Given the description of an element on the screen output the (x, y) to click on. 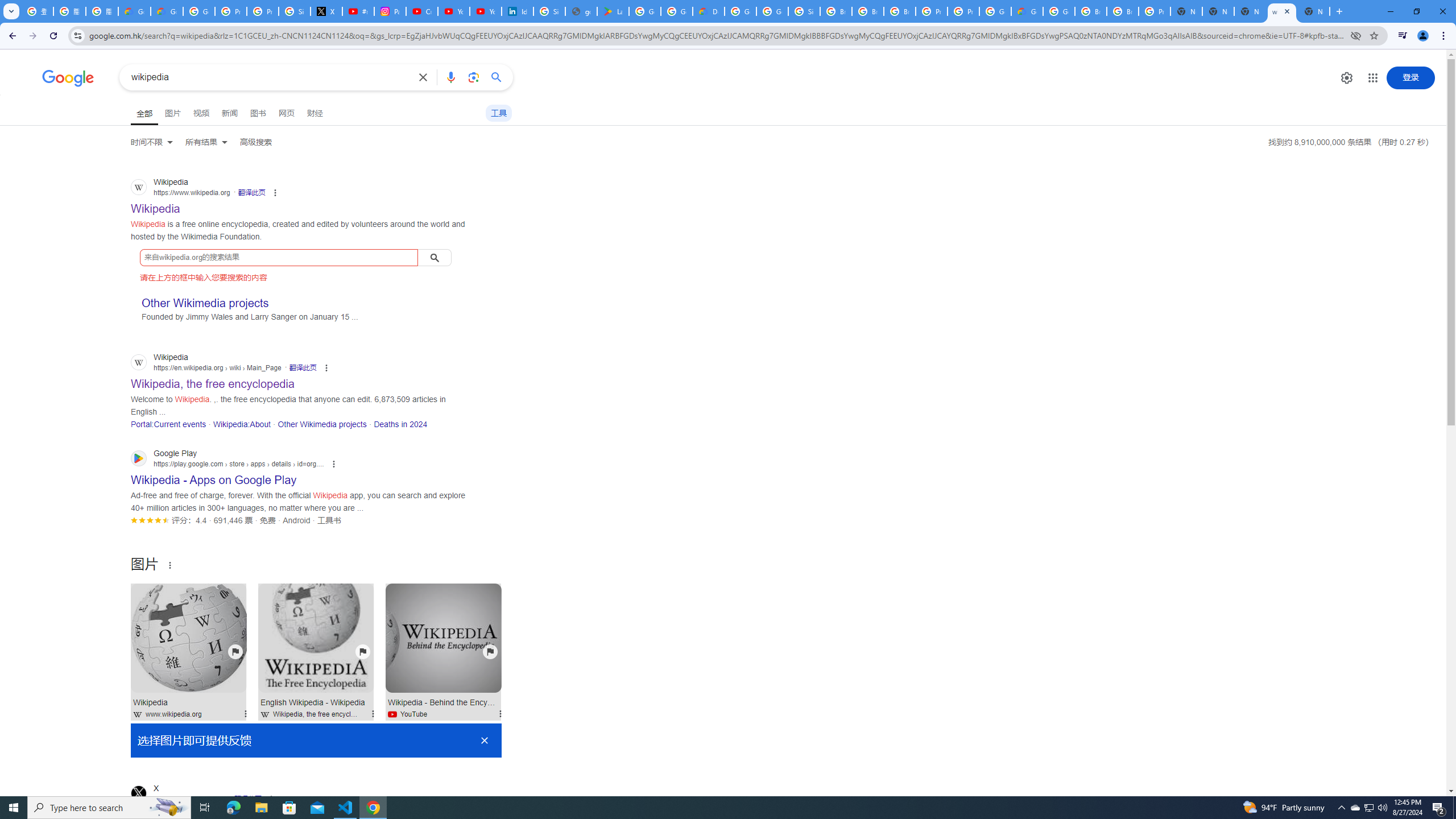
Browse Chrome as a guest - Computer - Google Chrome Help (1123, 11)
Other Wikimedia projects (322, 424)
Google Cloud Platform (995, 11)
Last Shelter: Survival - Apps on Google Play (613, 11)
Google Workspace - Specific Terms (676, 11)
